Given the description of an element on the screen output the (x, y) to click on. 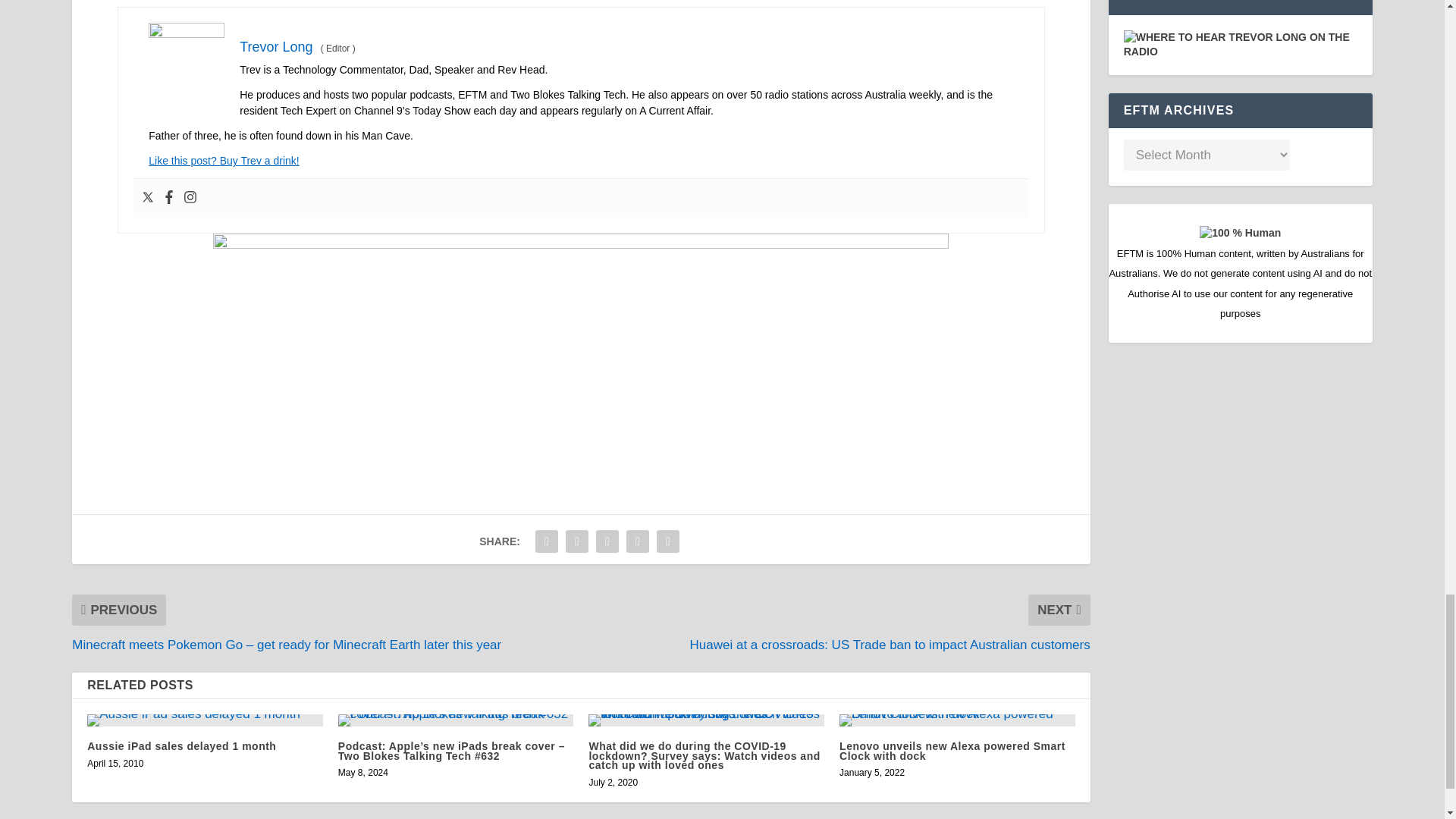
Lenovo unveils new Alexa powered Smart Clock with dock (957, 720)
Aussie iPad sales delayed 1 month (205, 720)
Like this post? Buy Trev a drink! (223, 160)
Trevor Long (276, 46)
